Given the description of an element on the screen output the (x, y) to click on. 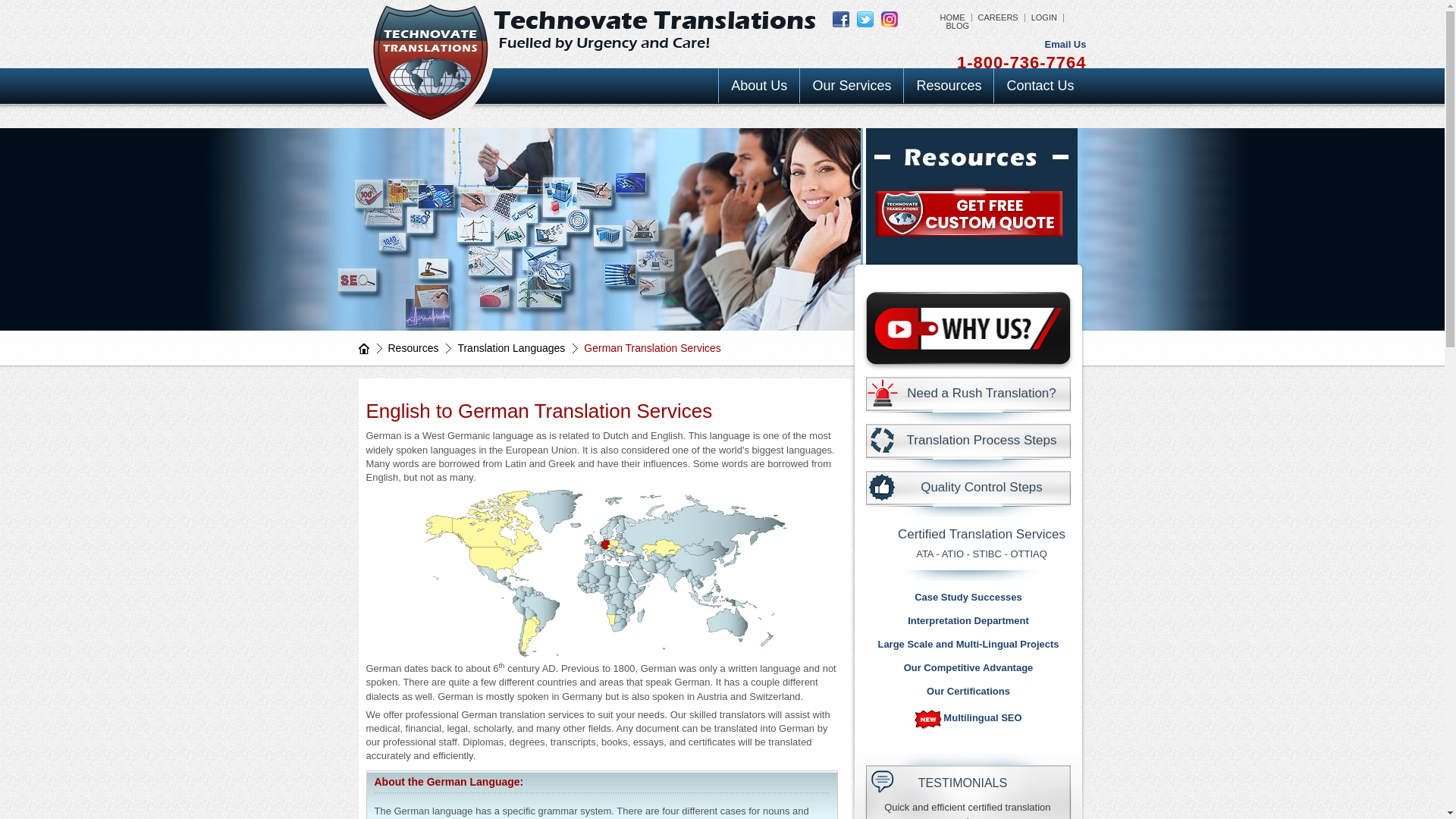
BLOG (954, 25)
BLOG (954, 25)
About Us (759, 85)
About Us (759, 85)
Email Us (1065, 43)
HOME (955, 17)
CAREERS (998, 17)
CAREERS (998, 17)
Our Services (850, 85)
Our Services (850, 85)
LOGIN (1043, 17)
HOME (955, 17)
1-800-736-7764 (1021, 64)
LOGIN (1043, 17)
